Given the description of an element on the screen output the (x, y) to click on. 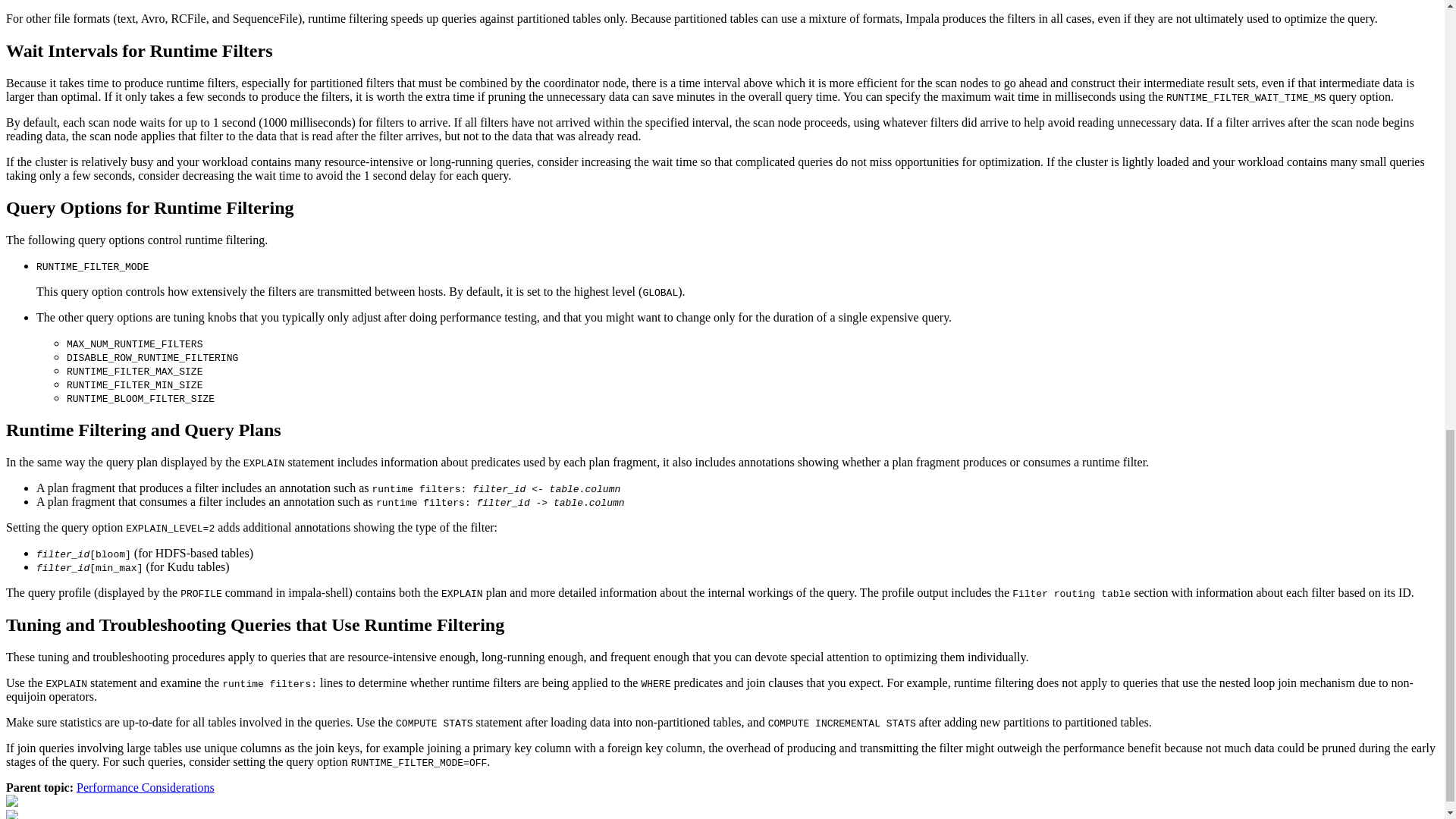
Performance Considerations (145, 787)
